Given the description of an element on the screen output the (x, y) to click on. 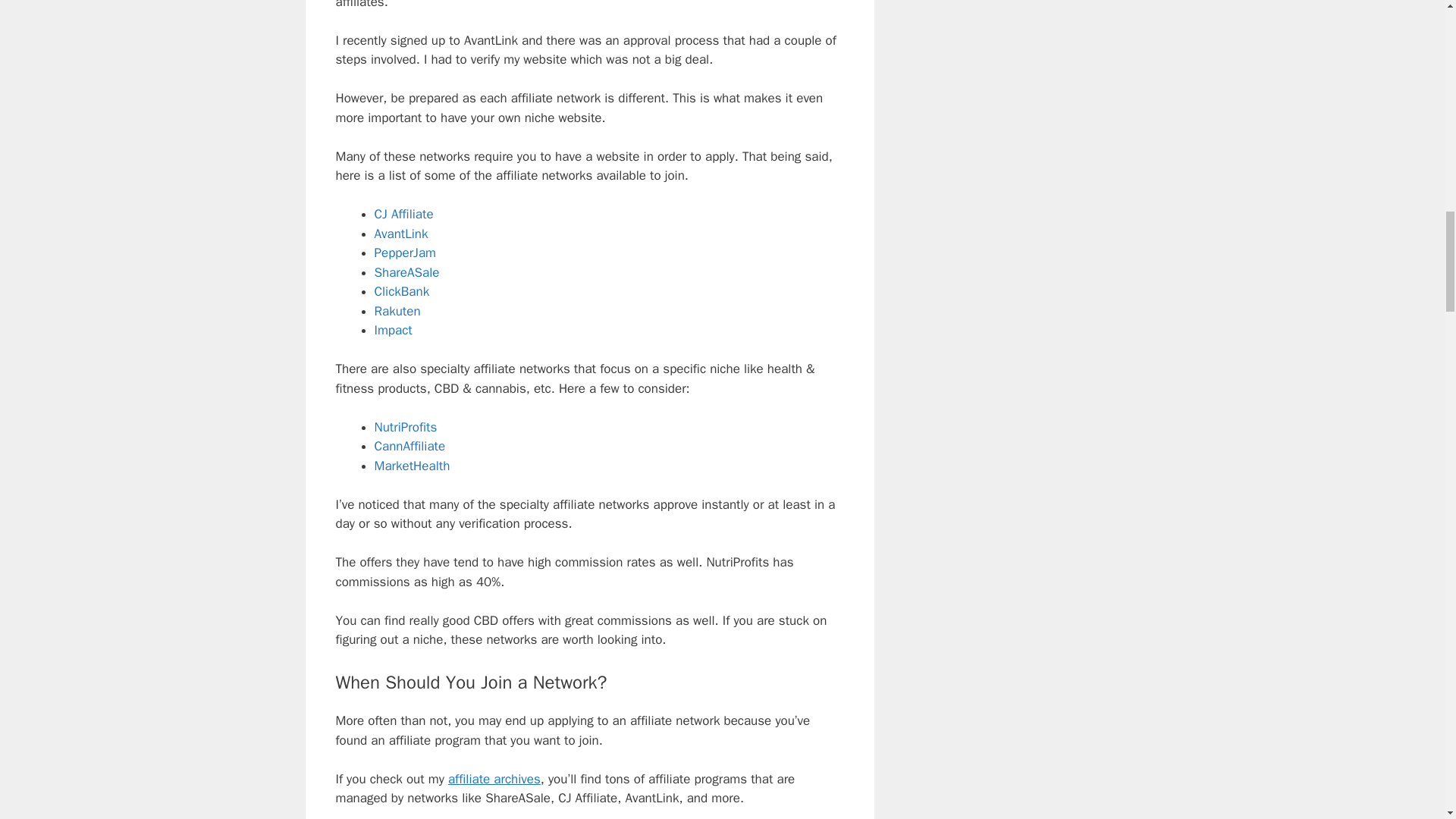
NutriProfits (406, 426)
PepperJam (404, 252)
AvantLink (401, 233)
CJ Affiliate (403, 213)
MarketHealth (411, 465)
CannAffiliate (409, 446)
ShareASale (406, 272)
ClickBank (401, 291)
Rakuten (397, 311)
Impact (393, 330)
affiliate archives (494, 779)
